Given the description of an element on the screen output the (x, y) to click on. 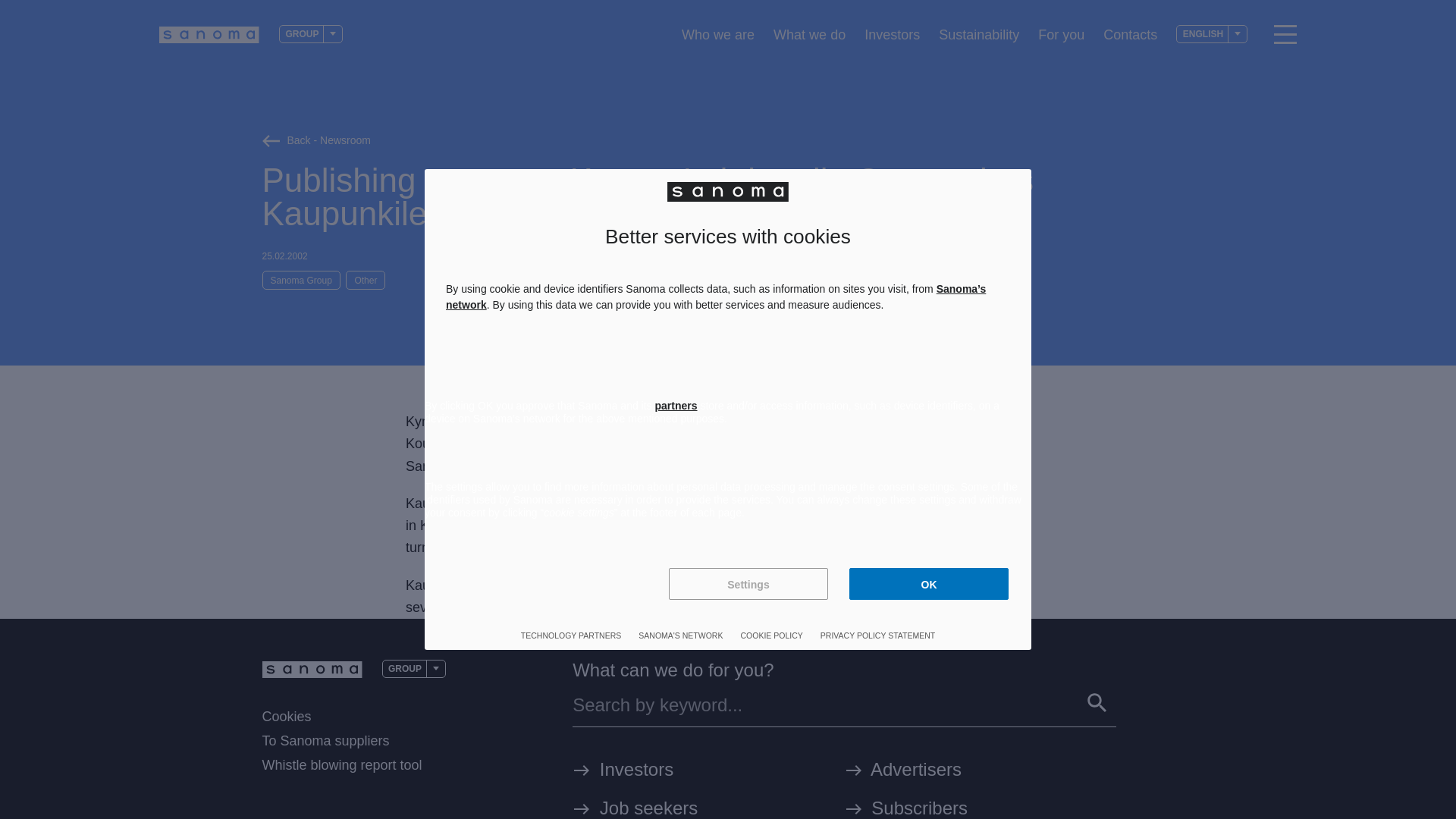
For you (1061, 34)
